Given the description of an element on the screen output the (x, y) to click on. 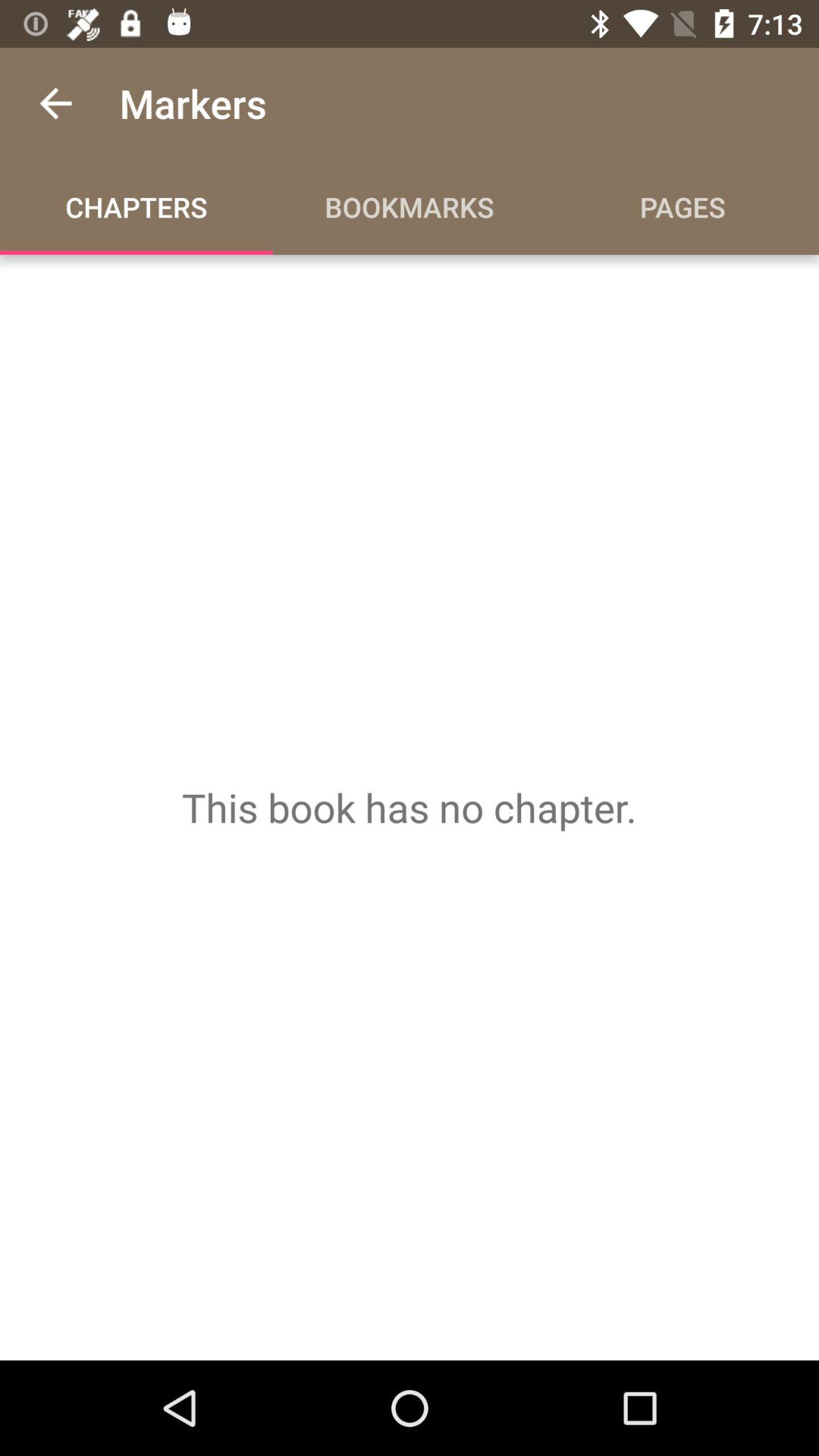
turn off the item to the left of the markers icon (55, 103)
